Given the description of an element on the screen output the (x, y) to click on. 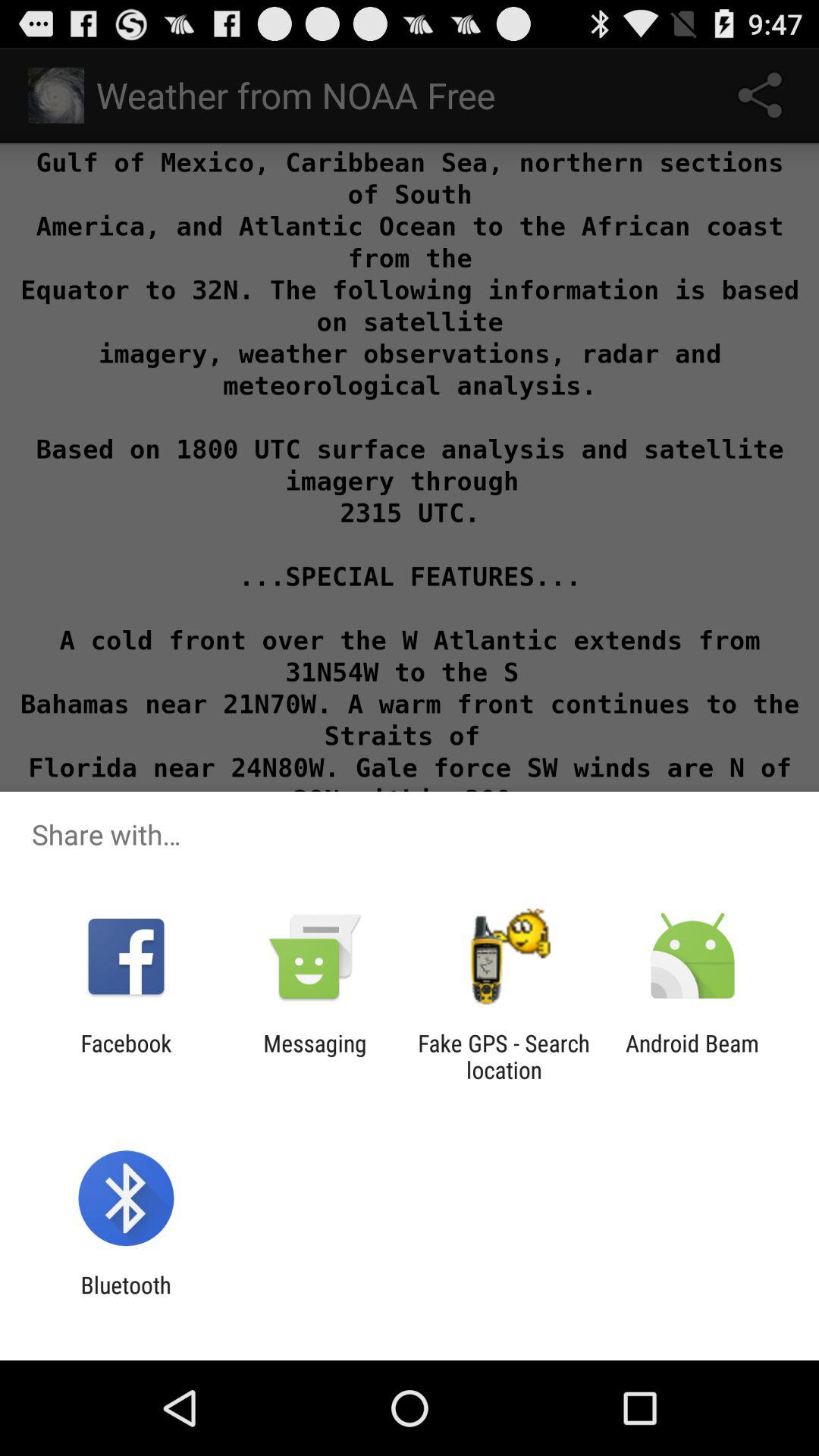
open icon to the right of fake gps search icon (692, 1056)
